Given the description of an element on the screen output the (x, y) to click on. 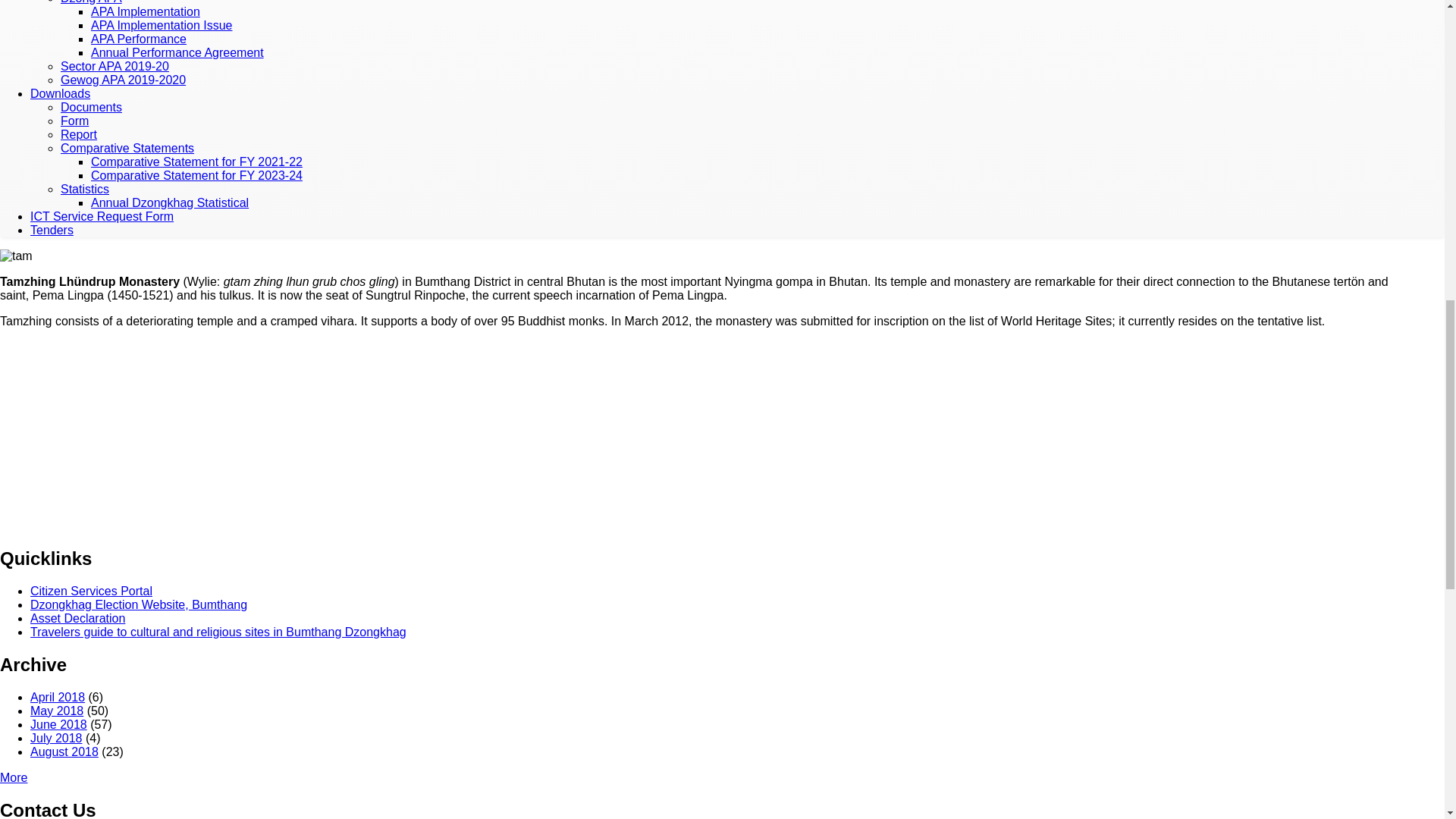
Traveler's guide Bumthang Dzongkhag (218, 631)
